Given the description of an element on the screen output the (x, y) to click on. 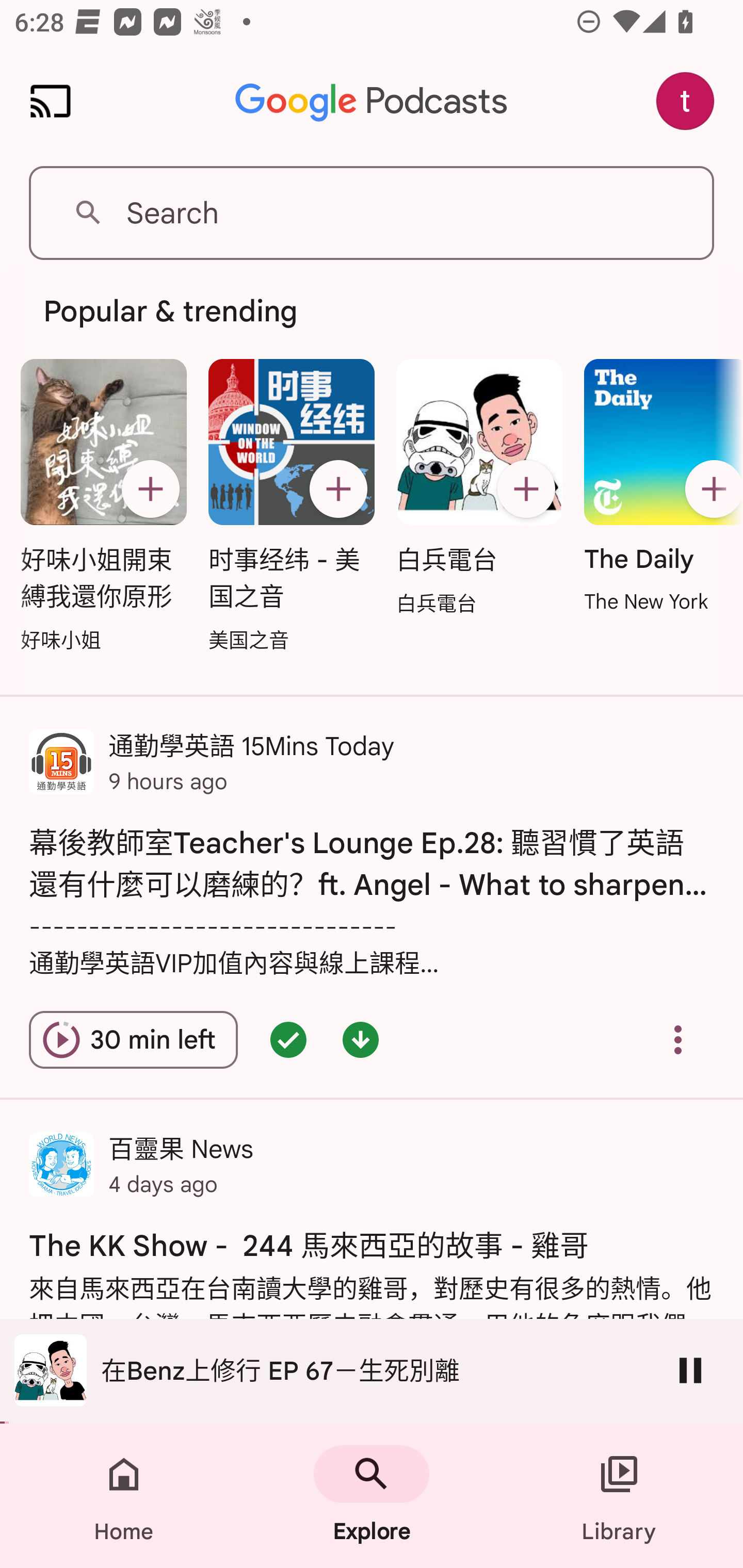
Cast. Disconnected (50, 101)
Search (371, 212)
好味小姐開束縛我還你原形 Subscribe 好味小姐開束縛我還你原形 好味小姐 (103, 507)
时事经纬 - 美国之音 Subscribe 时事经纬 - 美国之音 美国之音 (291, 507)
白兵電台 Subscribe 白兵電台 白兵電台 (479, 488)
The Daily Subscribe The Daily The New York Times (658, 487)
Subscribe (150, 489)
Subscribe (338, 489)
Subscribe (526, 489)
Subscribe (710, 489)
Episode queued - double tap for options (288, 1040)
Episode downloaded - double tap for options (360, 1040)
Overflow menu (677, 1040)
白兵電台 在Benz上修行 EP 67－生死別離 Pause 56.0 (371, 1370)
Pause (690, 1370)
Home (123, 1495)
Library (619, 1495)
